Given the description of an element on the screen output the (x, y) to click on. 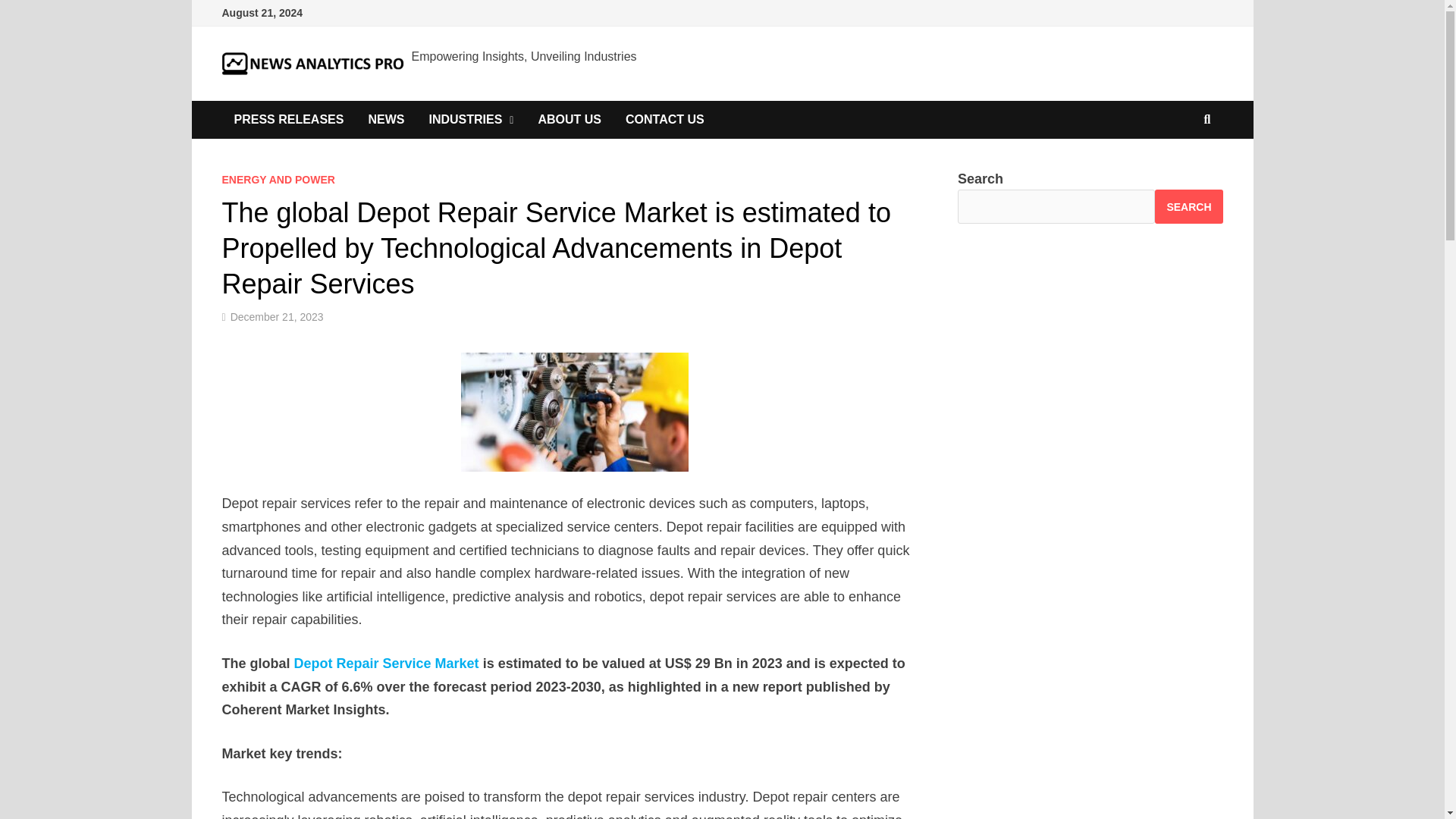
ABOUT US (568, 119)
CONTACT US (664, 119)
NEWS (385, 119)
PRESS RELEASES (288, 119)
INDUSTRIES (470, 119)
